Given the description of an element on the screen output the (x, y) to click on. 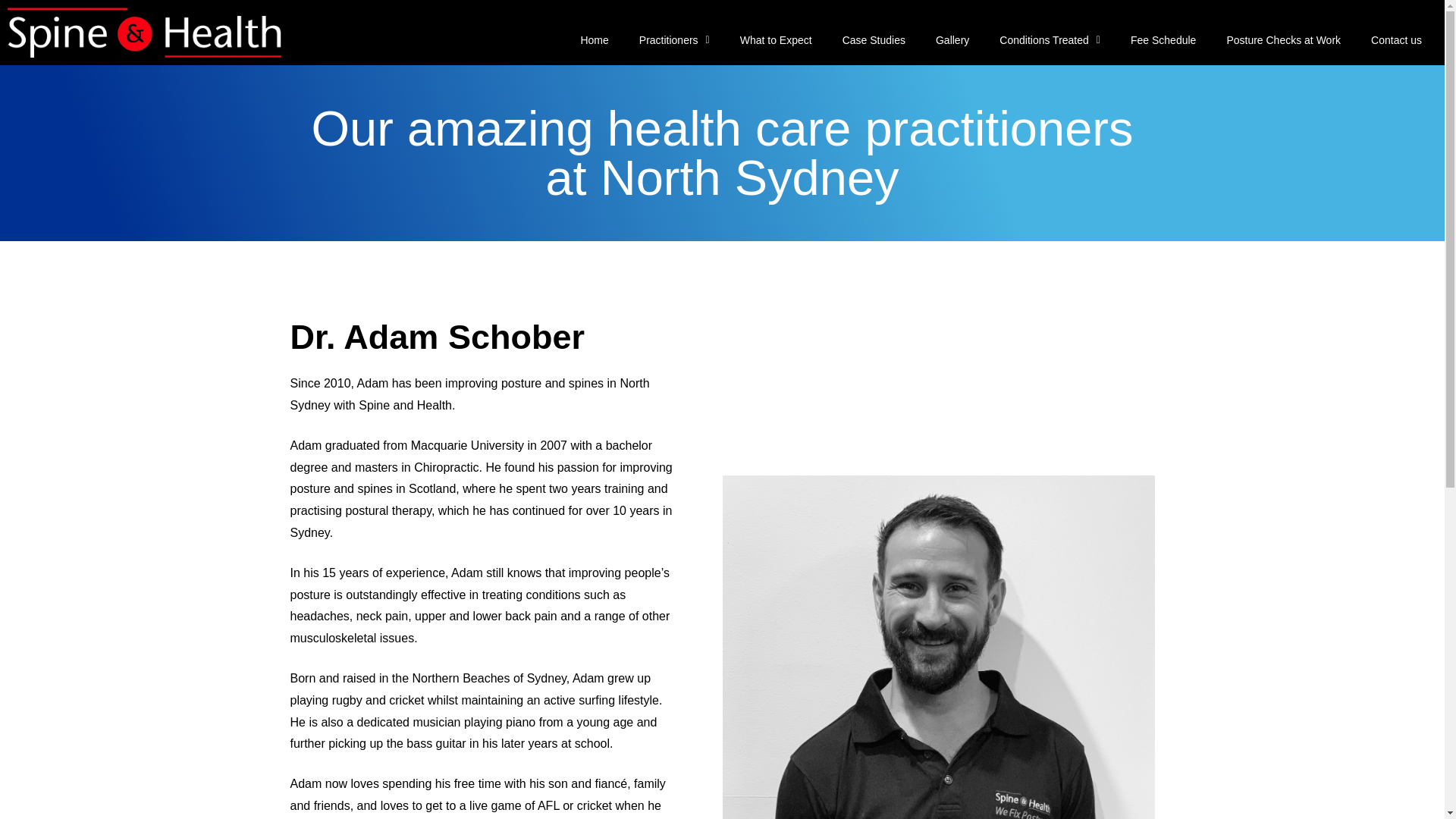
Gallery (952, 39)
Conditions Treated (1049, 39)
Fee Schedule (1163, 39)
Home (593, 39)
Practitioners (674, 39)
Contact us (1396, 39)
What to Expect (776, 39)
Case Studies (873, 39)
Posture Checks at Work (1283, 39)
